Given the description of an element on the screen output the (x, y) to click on. 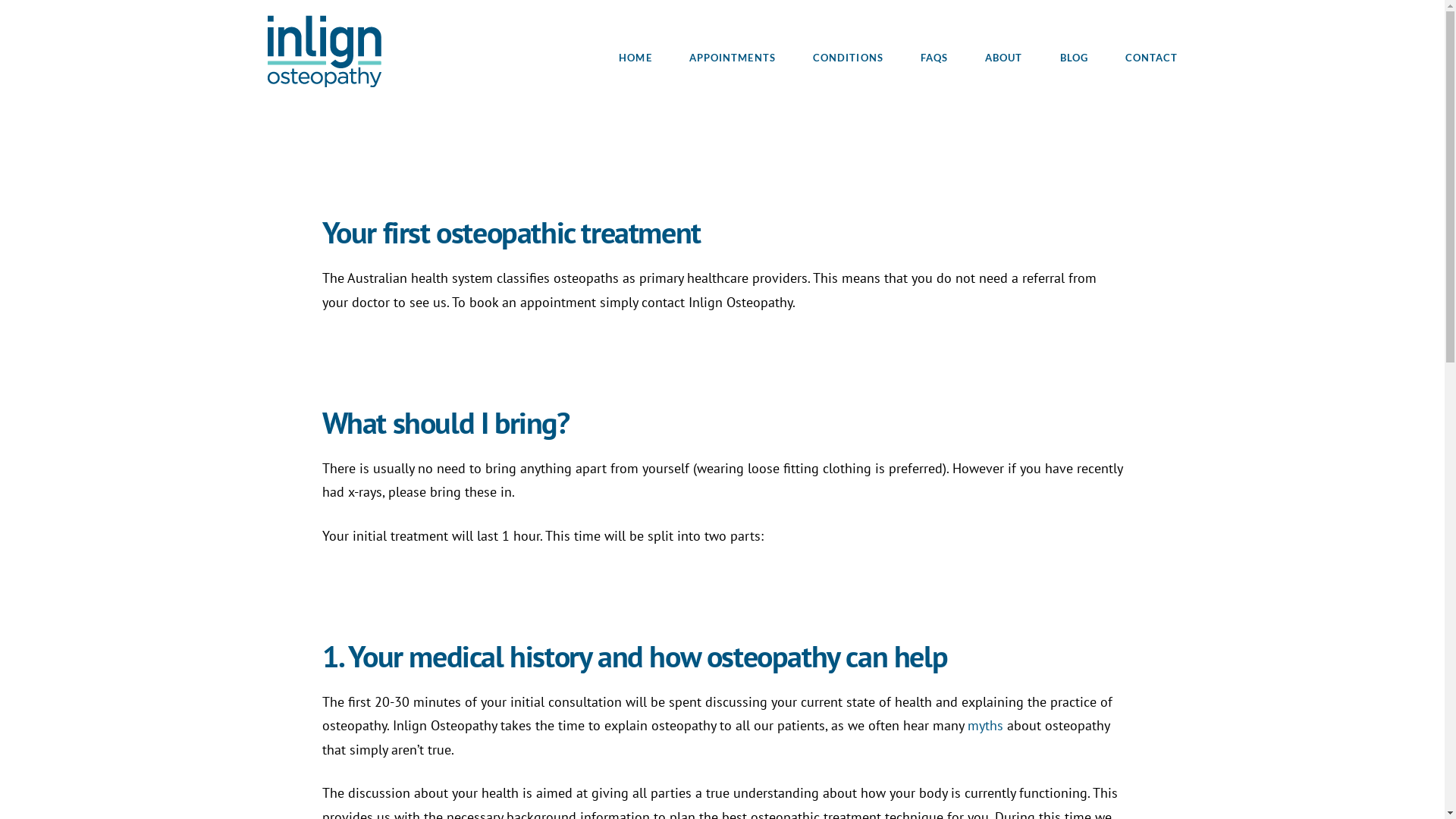
myths Element type: text (985, 725)
BLOG Element type: text (1073, 34)
ABOUT Element type: text (1003, 34)
APPOINTMENTS Element type: text (731, 34)
FAQS Element type: text (933, 34)
CONTACT Element type: text (1141, 34)
HOME Element type: text (634, 34)
CONDITIONS Element type: text (847, 34)
